Given the description of an element on the screen output the (x, y) to click on. 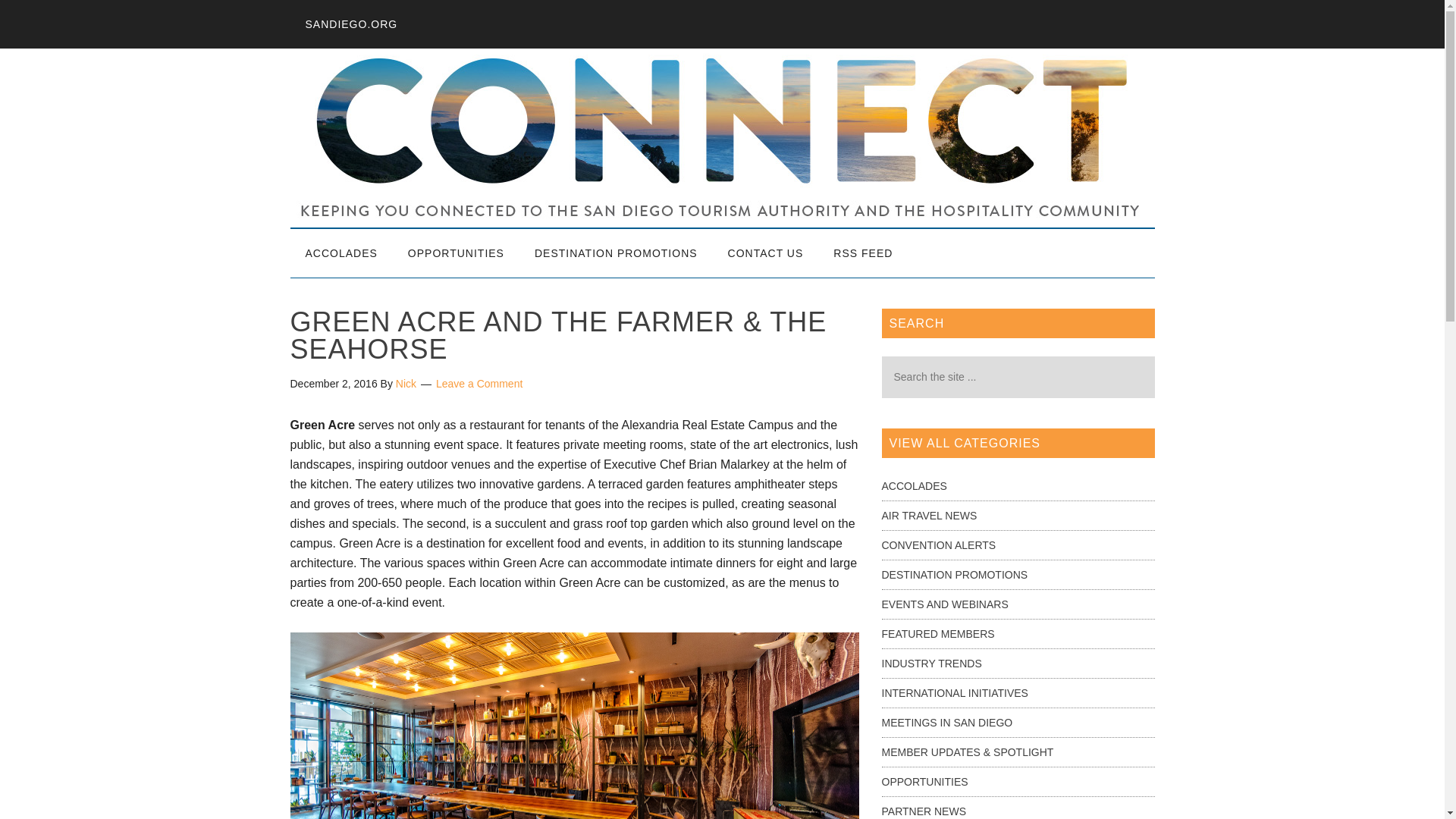
FEATURED MEMBERS (937, 633)
AIR TRAVEL NEWS (928, 515)
DESTINATION PROMOTIONS (953, 574)
Nick (406, 383)
ACCOLADES (340, 253)
OPPORTUNITIES (924, 781)
ACCOLADES (913, 485)
EVENTS AND WEBINARS (943, 604)
CONVENTION ALERTS (937, 544)
